Given the description of an element on the screen output the (x, y) to click on. 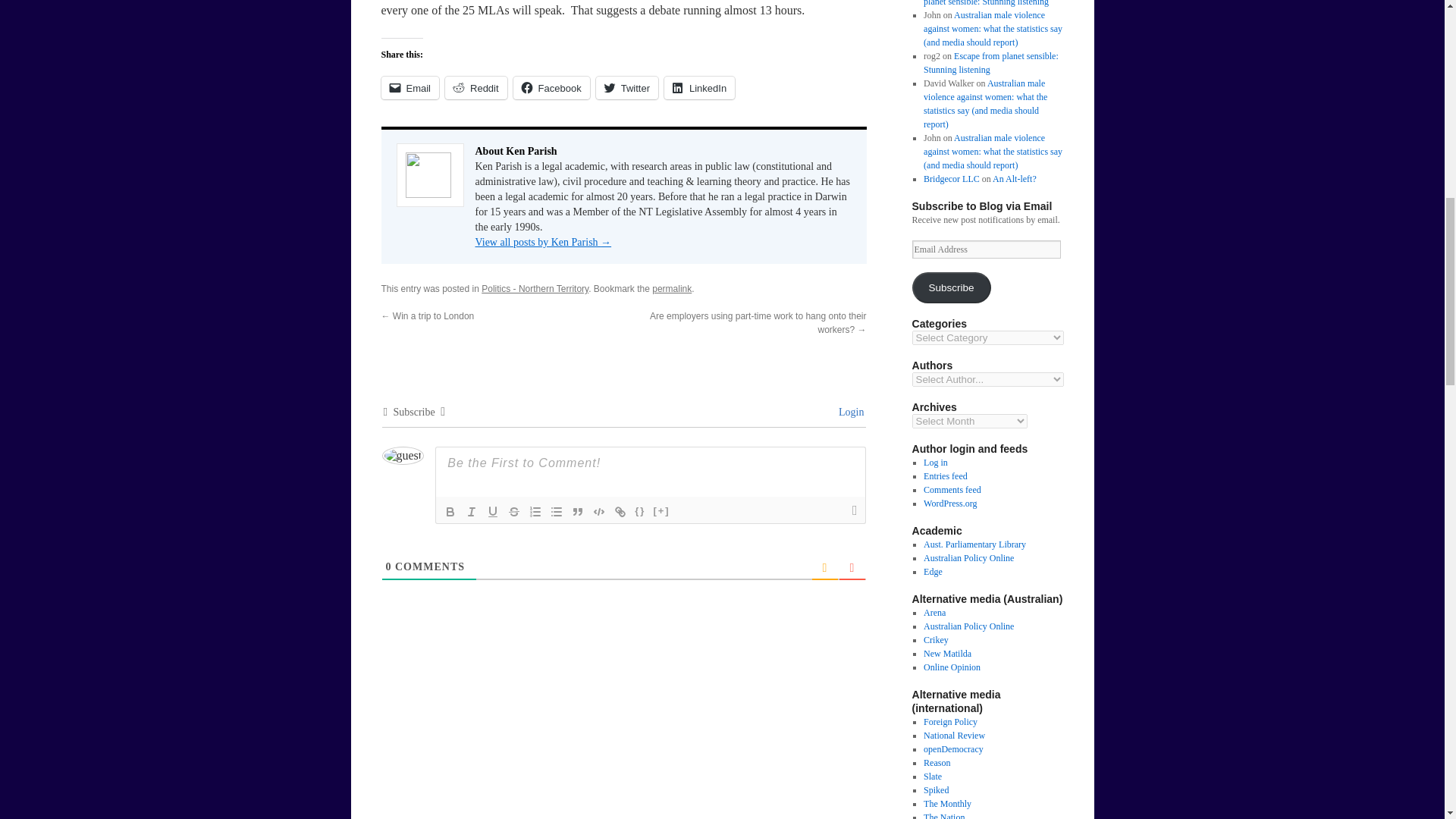
Click to share on Facebook (551, 87)
Click to share on LinkedIn (699, 87)
Bold (450, 511)
Click to share on Twitter (626, 87)
Italic (471, 511)
Email (409, 87)
Reddit (475, 87)
Politics - Northern Territory (534, 288)
ordered (535, 511)
Twitter (626, 87)
Login (849, 411)
bullet (556, 511)
Permalink to Live broadcasting the fall of a government? (671, 288)
Underline (492, 511)
permalink (671, 288)
